Given the description of an element on the screen output the (x, y) to click on. 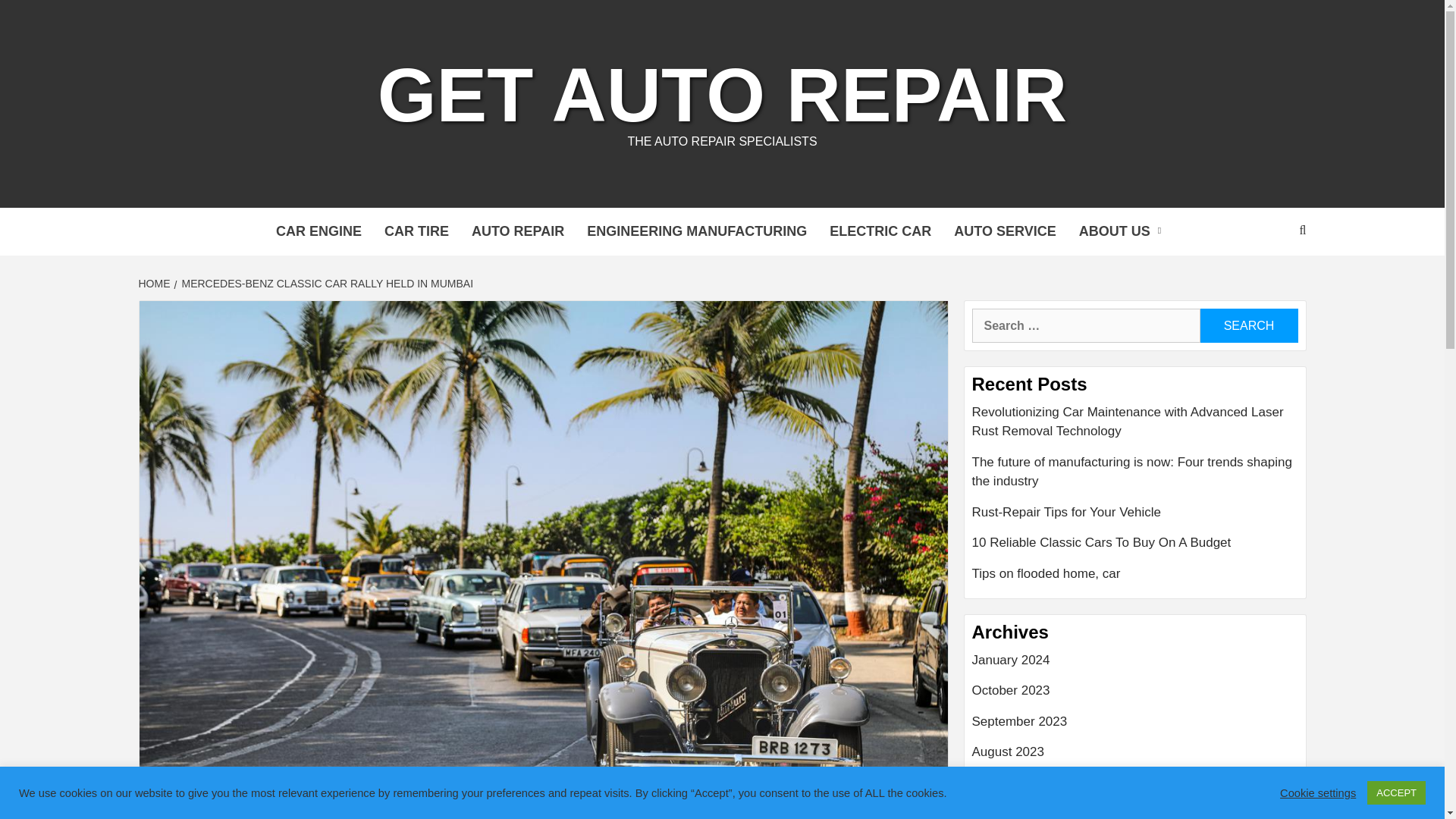
HOME (155, 283)
AUTO REPAIR (517, 231)
ELECTRIC CAR (880, 231)
January 2024 (1135, 665)
September 2023 (1135, 726)
MERCEDES-BENZ CLASSIC CAR RALLY HELD IN MUMBAI (325, 283)
August 2023 (1135, 757)
